Given the description of an element on the screen output the (x, y) to click on. 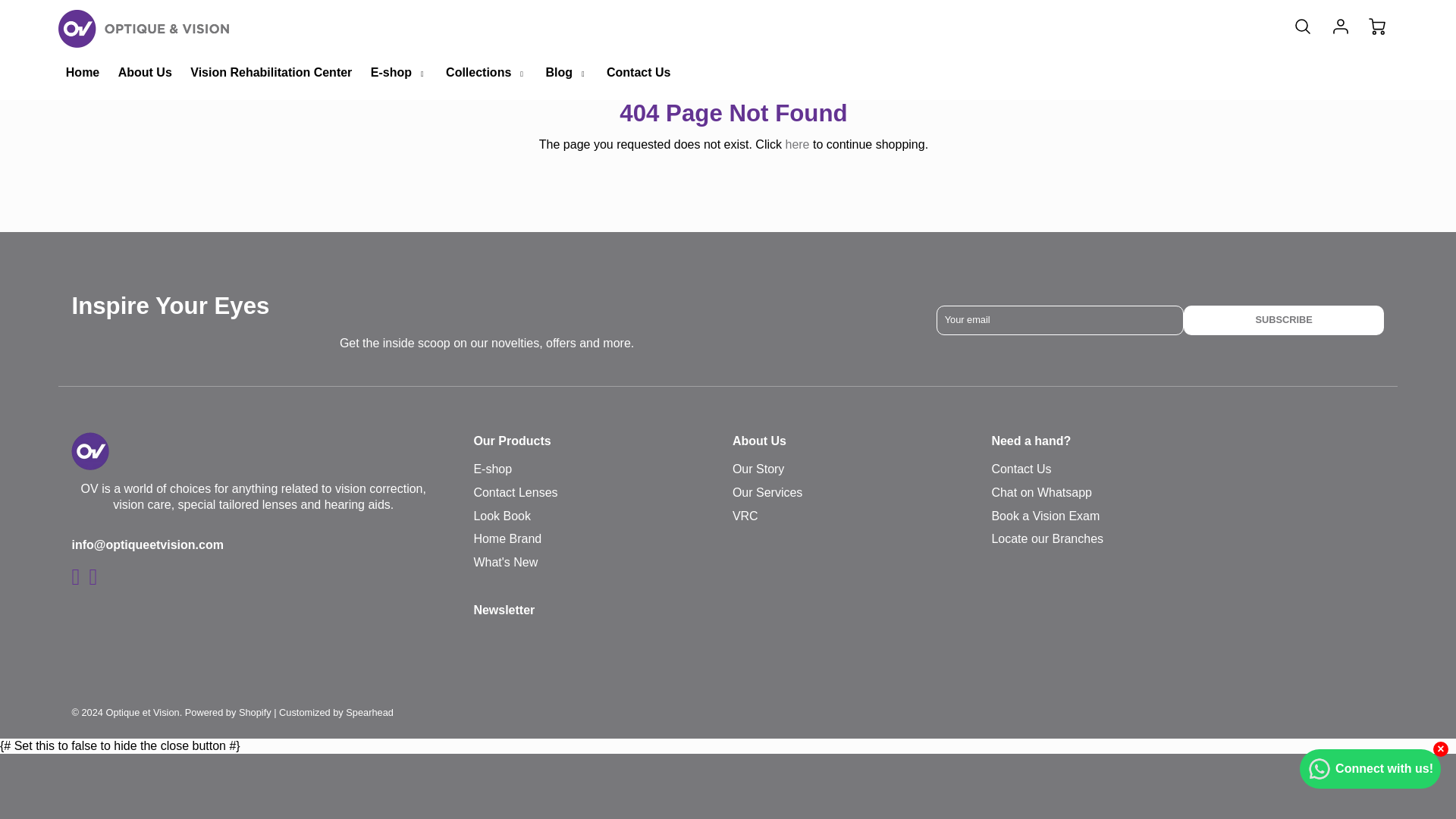
Home (82, 73)
Collections (486, 73)
Contact Us (638, 73)
Vision Rehabilitation Center (271, 73)
Blog (566, 73)
Visit Spearhead's website (336, 712)
About Us (144, 73)
E-shop (398, 73)
